Given the description of an element on the screen output the (x, y) to click on. 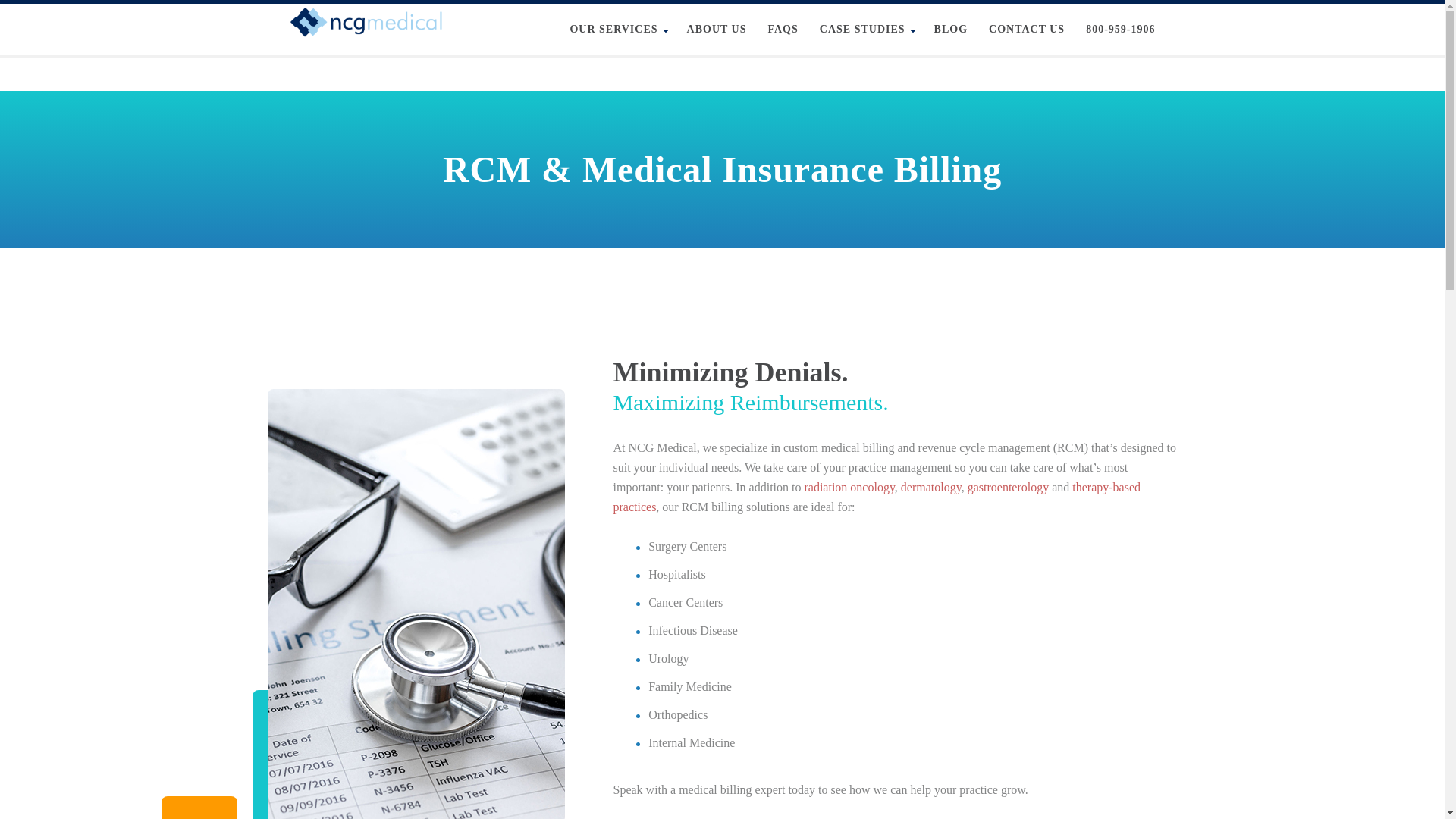
radiation oncology (848, 486)
800-959-1906 (1120, 31)
Our Services (617, 31)
FAQs (782, 31)
OUR SERVICES (617, 31)
ABOUT US (717, 31)
Contact Us (1026, 31)
CONTACT US (1026, 31)
FAQS (782, 31)
Blog (950, 31)
gastroenterology (1008, 486)
Case Studies (866, 31)
800-959-1906 (1120, 31)
therapy-based practices (876, 496)
CASE STUDIES (866, 31)
